Given the description of an element on the screen output the (x, y) to click on. 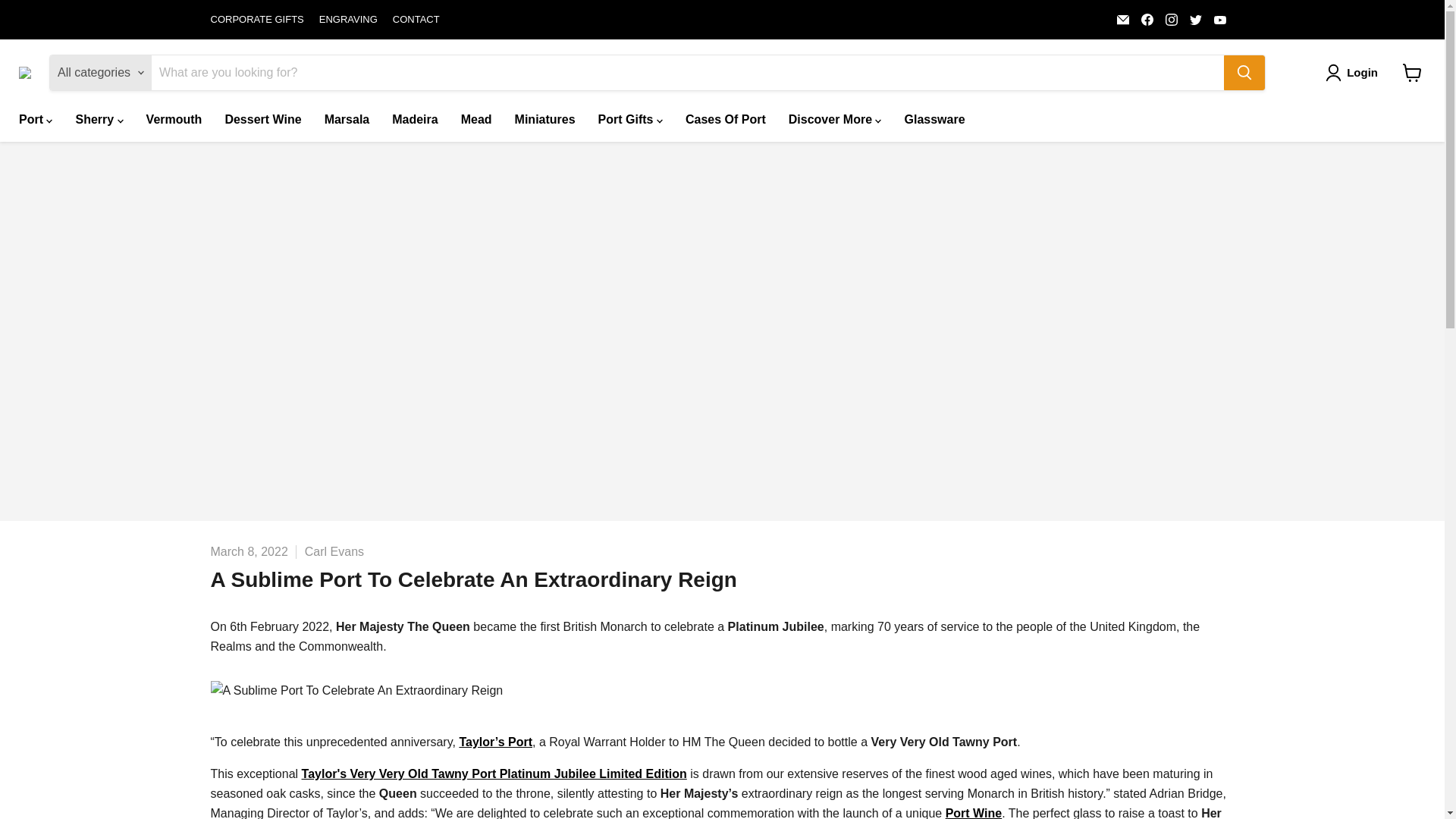
Instagram (1171, 19)
Facebook (1147, 19)
Port Wine (973, 812)
Twitter (1196, 19)
ENGRAVING (347, 19)
CONTACT (416, 19)
Email (1123, 19)
CORPORATE GIFTS (257, 19)
Find us on Twitter (1196, 19)
Find us on Instagram (1171, 19)
